Given the description of an element on the screen output the (x, y) to click on. 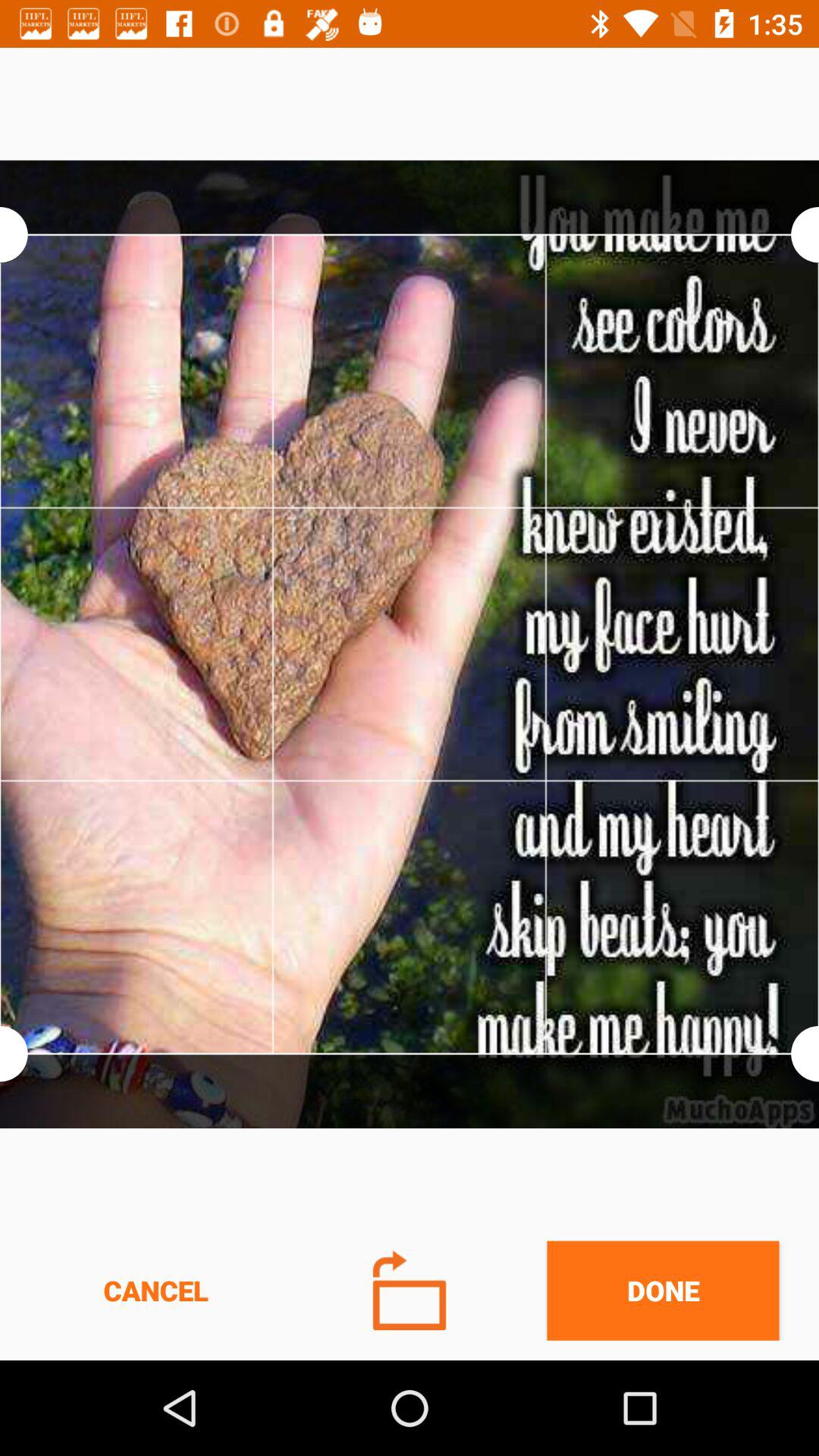
choose the button to the left of done item (409, 1290)
